Given the description of an element on the screen output the (x, y) to click on. 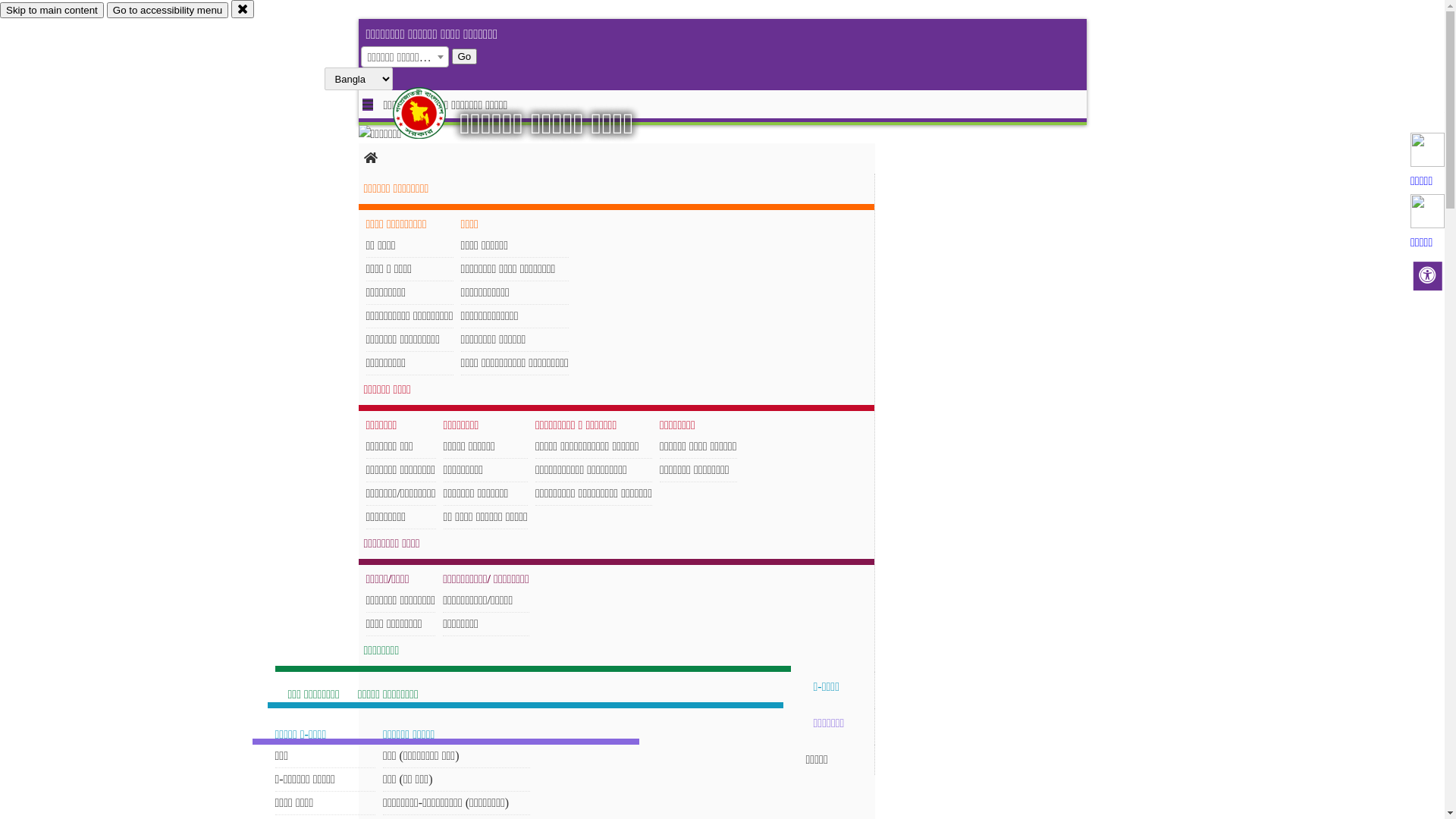
Skip to main content Element type: text (51, 10)
Go to accessibility menu Element type: text (167, 10)

                
             Element type: hover (431, 112)
close Element type: hover (242, 9)
Go Element type: text (464, 56)
